Given the description of an element on the screen output the (x, y) to click on. 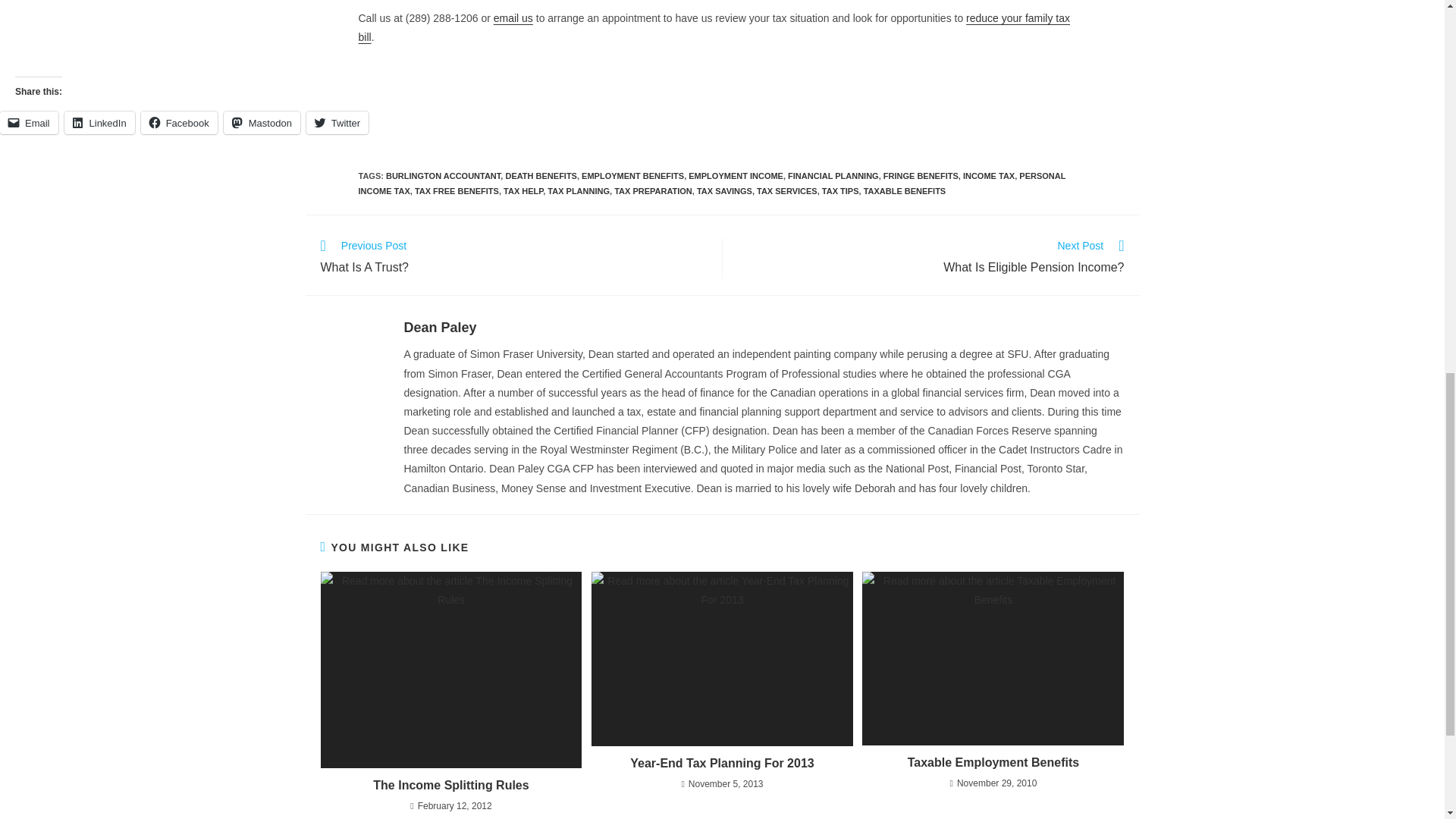
Visit author page (439, 327)
Click to email a link to a friend (29, 122)
Click to share on Facebook (178, 122)
Personal Tax Appointment (512, 18)
Click to share on Mastodon (261, 122)
Click to share on LinkedIn (99, 122)
Tax Services (714, 27)
Click to share on Twitter (336, 122)
